Given the description of an element on the screen output the (x, y) to click on. 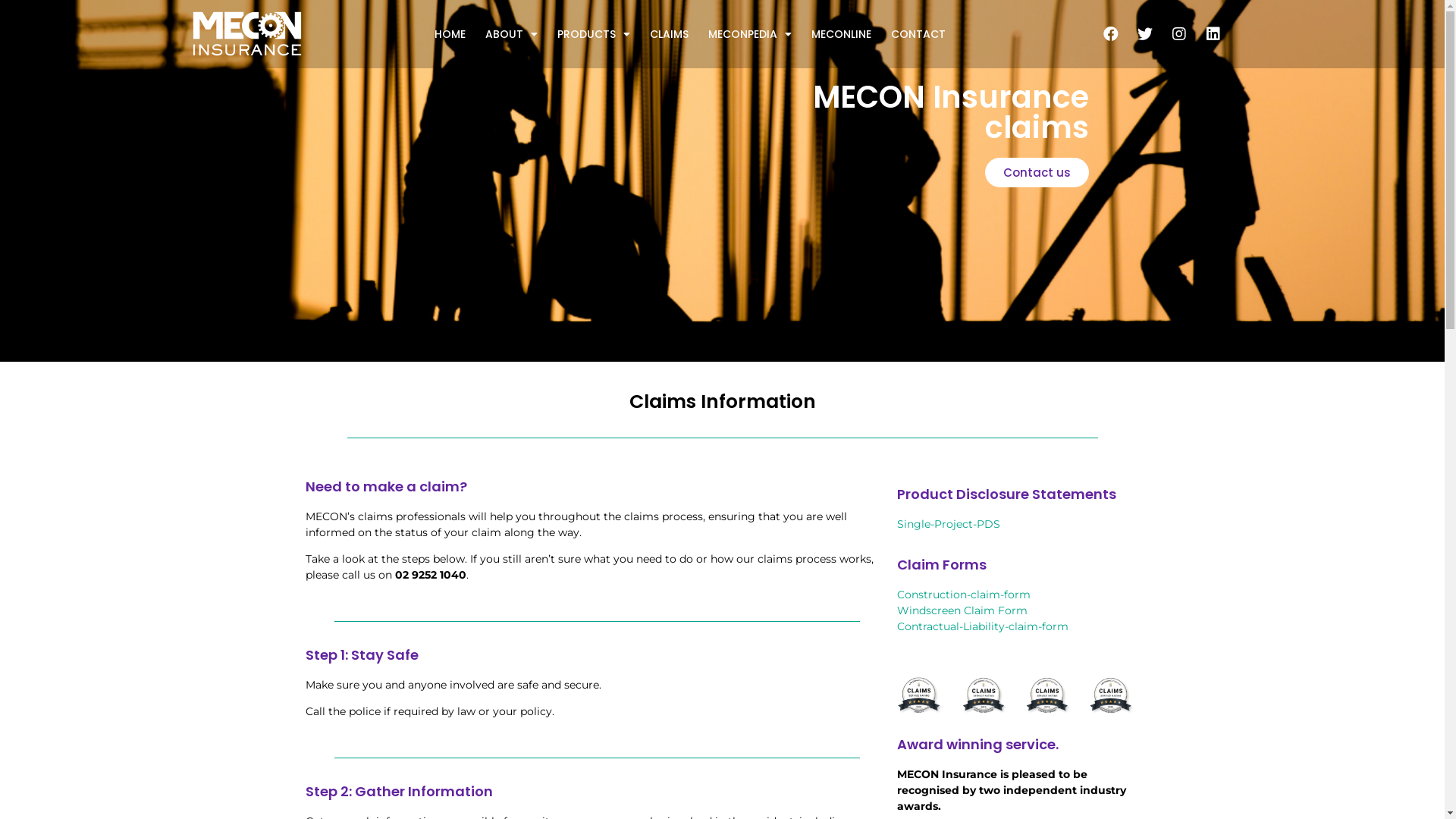
ABOUT Element type: text (511, 33)
CONTACT Element type: text (918, 33)
MECONLINE Element type: text (840, 33)
MECONPEDIA Element type: text (749, 33)
Contractual-Liability-claim-form Element type: text (981, 626)
Windscreen Claim Form Element type: text (961, 610)
Construction-claim-form Element type: text (962, 594)
Single-Project-PDS Element type: text (947, 523)
CLAIMS Element type: text (669, 33)
Contact us Element type: text (1036, 172)
HOME Element type: text (449, 33)
PRODUCTS Element type: text (593, 33)
